Given the description of an element on the screen output the (x, y) to click on. 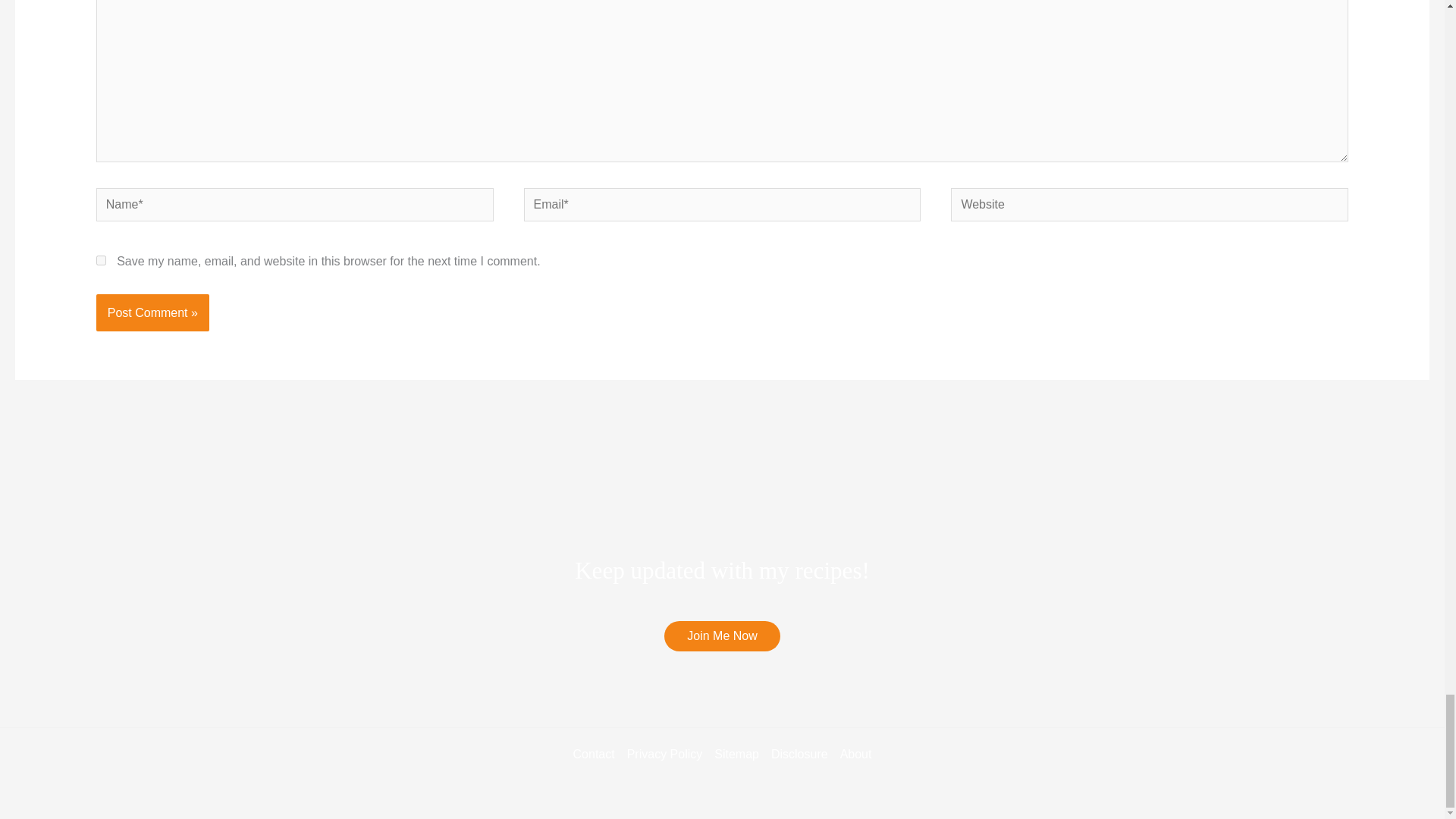
Privacy Policy (665, 753)
yes (101, 260)
Sitemap (736, 753)
Join Me Now (720, 635)
Contact (597, 753)
Disclosure (799, 753)
About (853, 753)
